Given the description of an element on the screen output the (x, y) to click on. 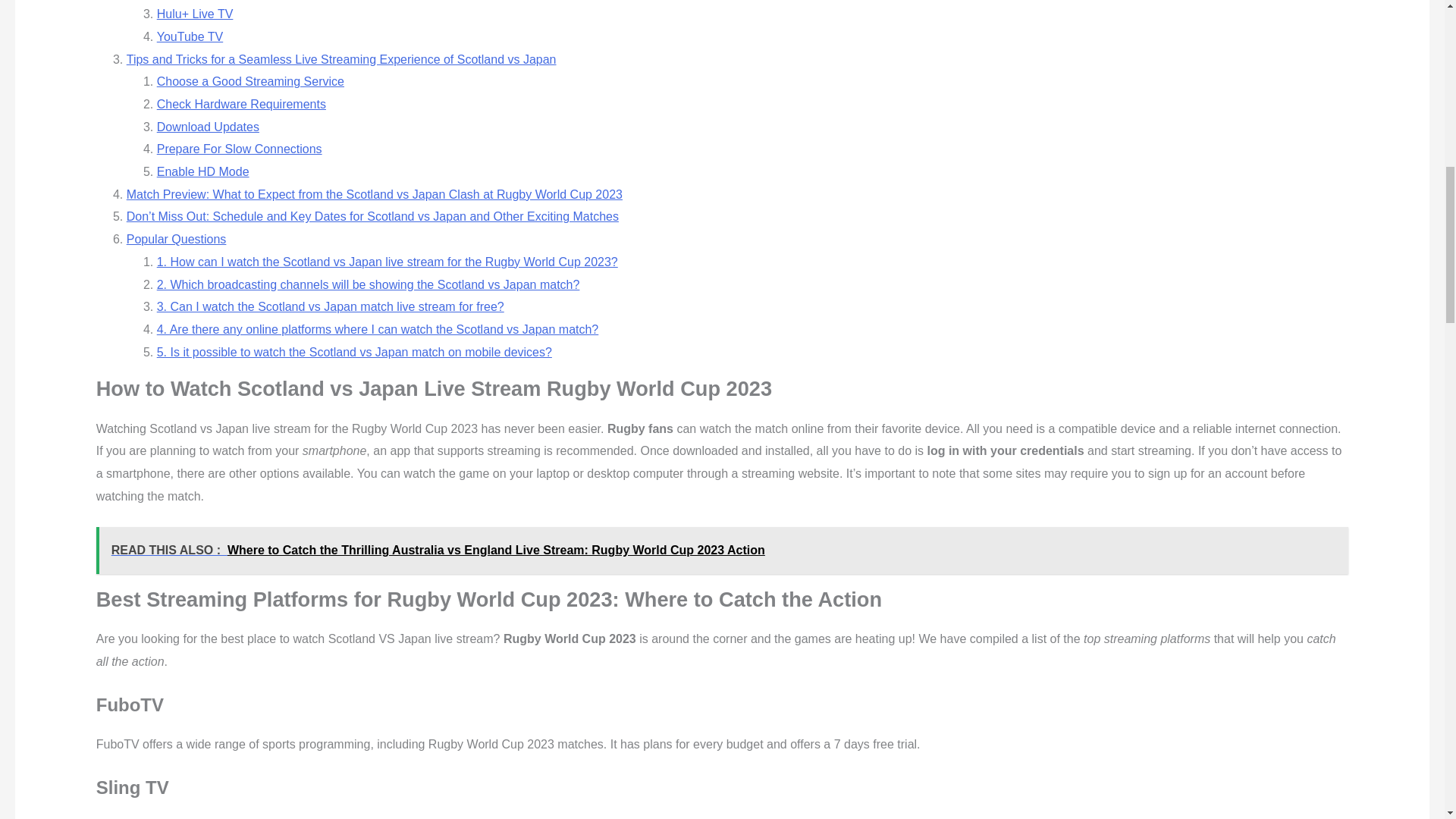
YouTube TV (189, 36)
Choose a Good Streaming Service (250, 81)
Download Updates (208, 126)
Enable HD Mode (202, 171)
Enable HD Mode (202, 171)
Prepare For Slow Connections (239, 148)
